Given the description of an element on the screen output the (x, y) to click on. 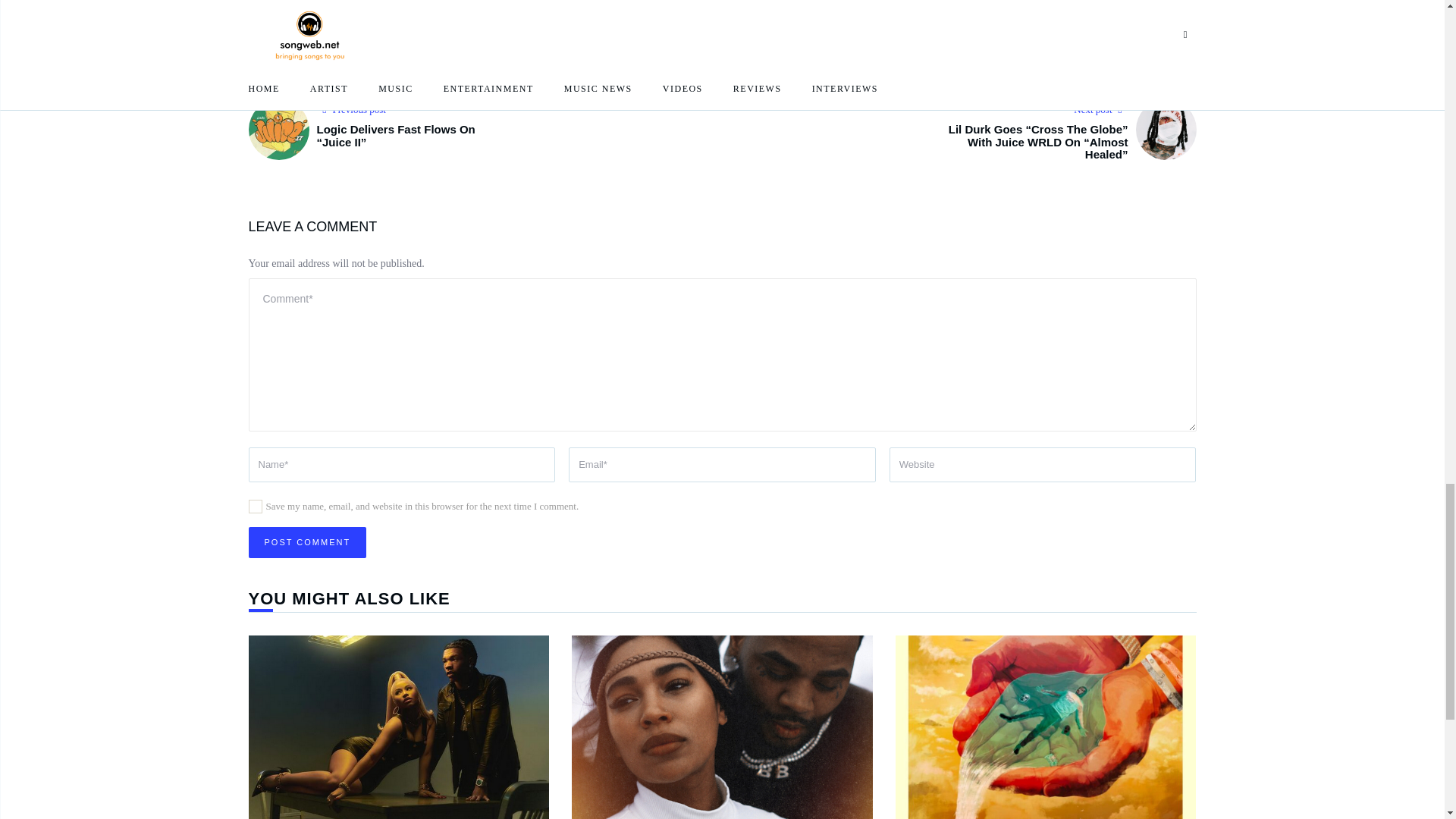
Post Comment (307, 542)
Lauren Jauregui (309, 41)
Wolves (465, 41)
ty dolla sign (412, 41)
Russ (363, 41)
yes (255, 506)
Post Comment (307, 542)
